Given the description of an element on the screen output the (x, y) to click on. 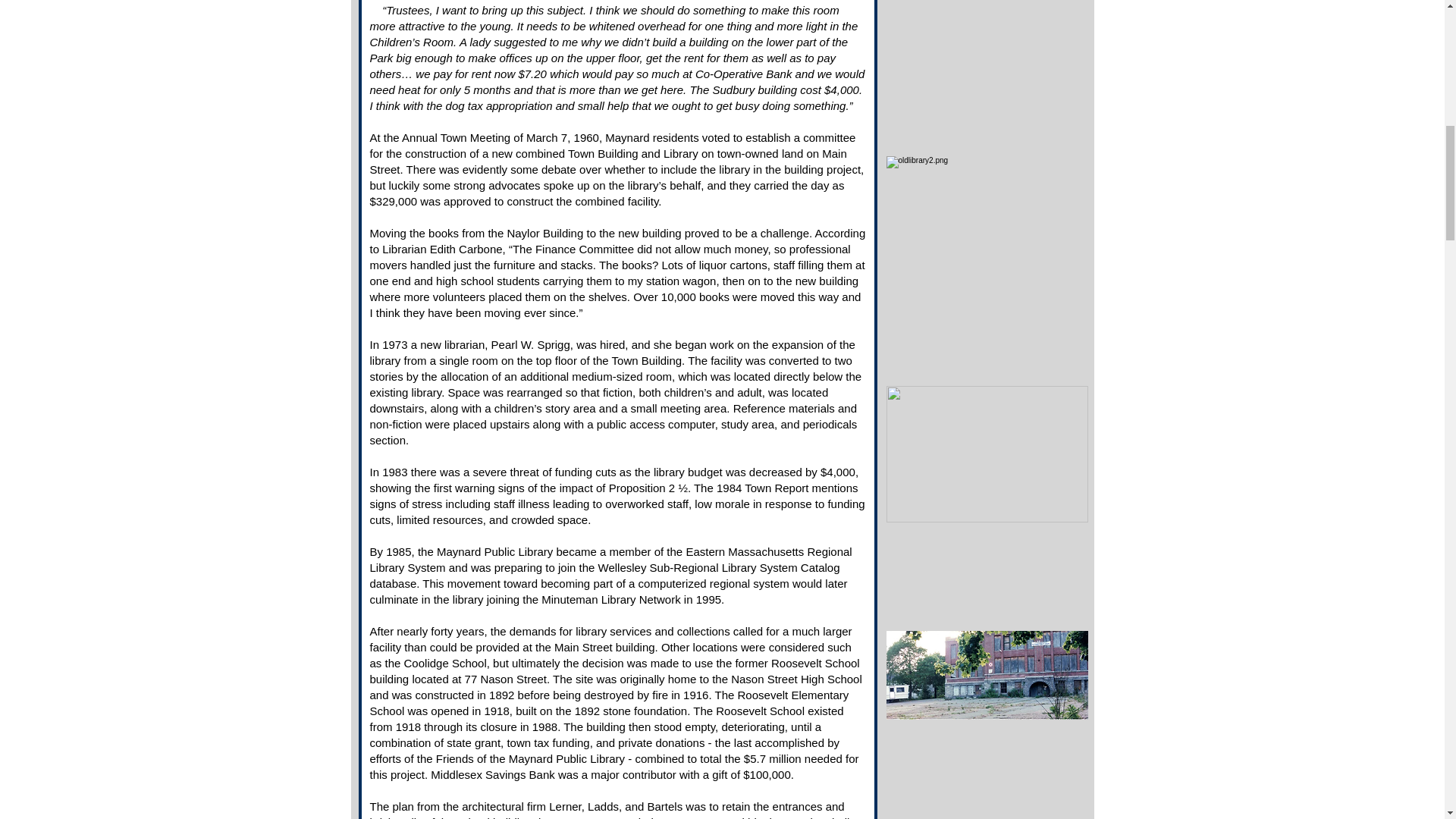
Screenshot 2023-11-07 3.41.19 PM.png (986, 453)
